Given the description of an element on the screen output the (x, y) to click on. 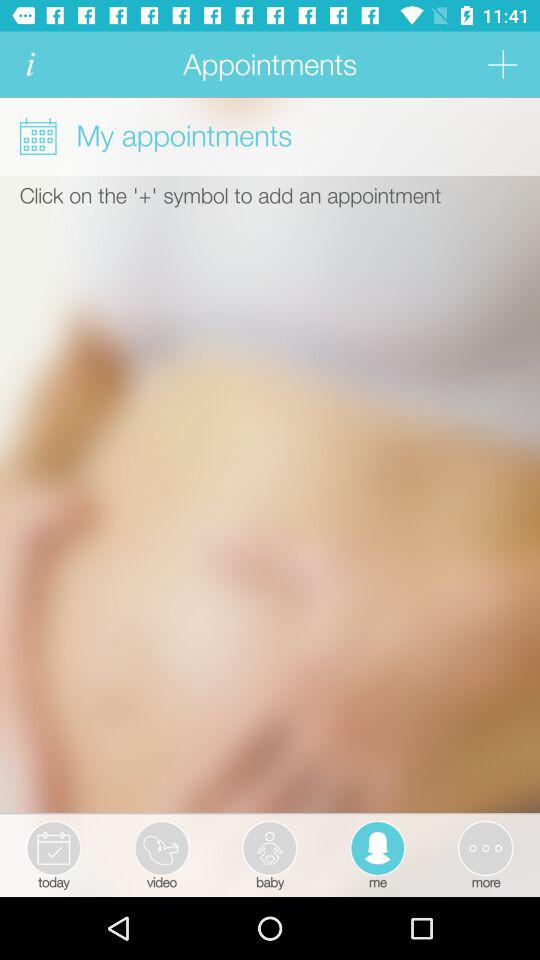
icon (30, 63)
